Given the description of an element on the screen output the (x, y) to click on. 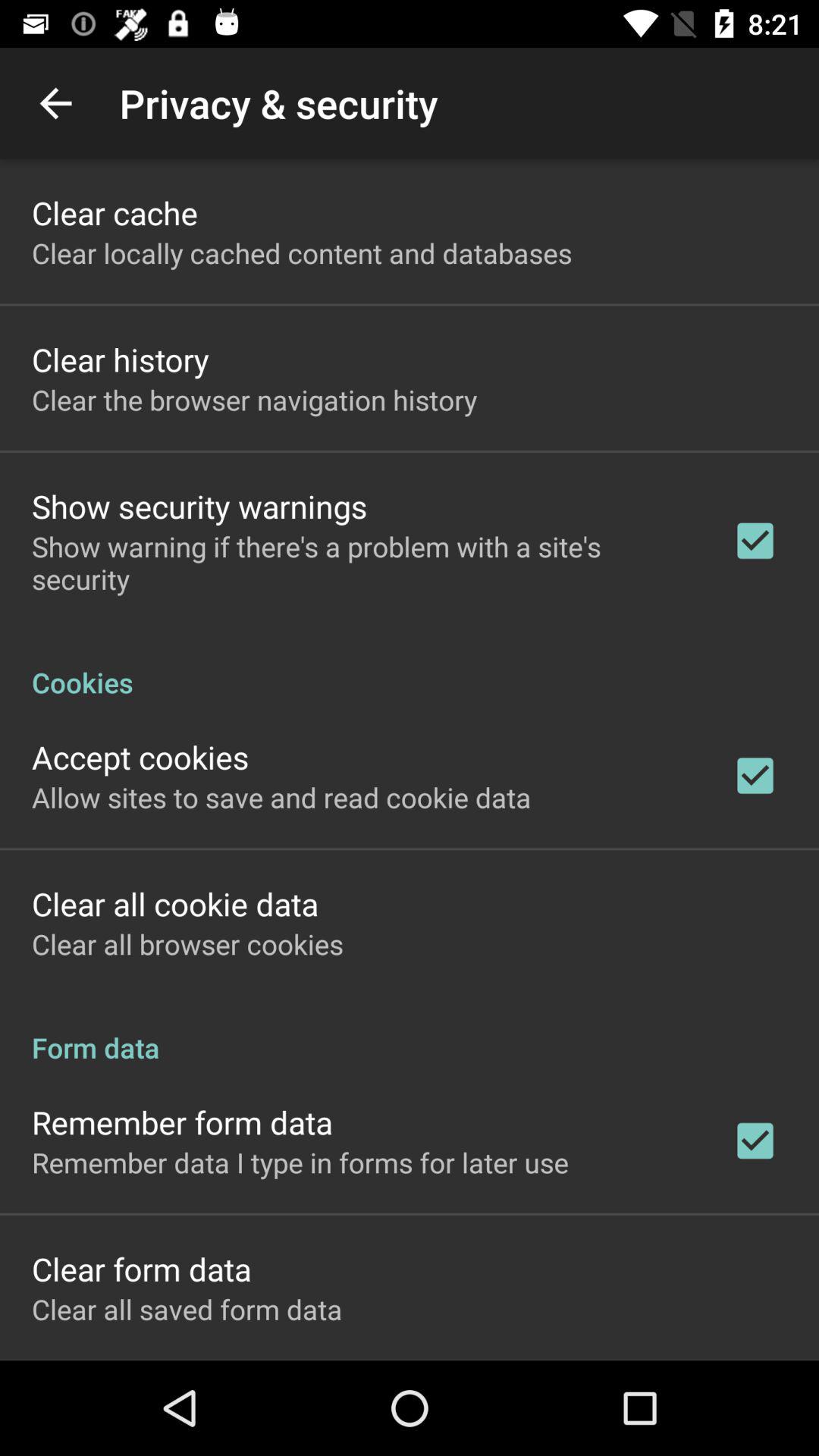
select icon below clear cache app (301, 252)
